Given the description of an element on the screen output the (x, y) to click on. 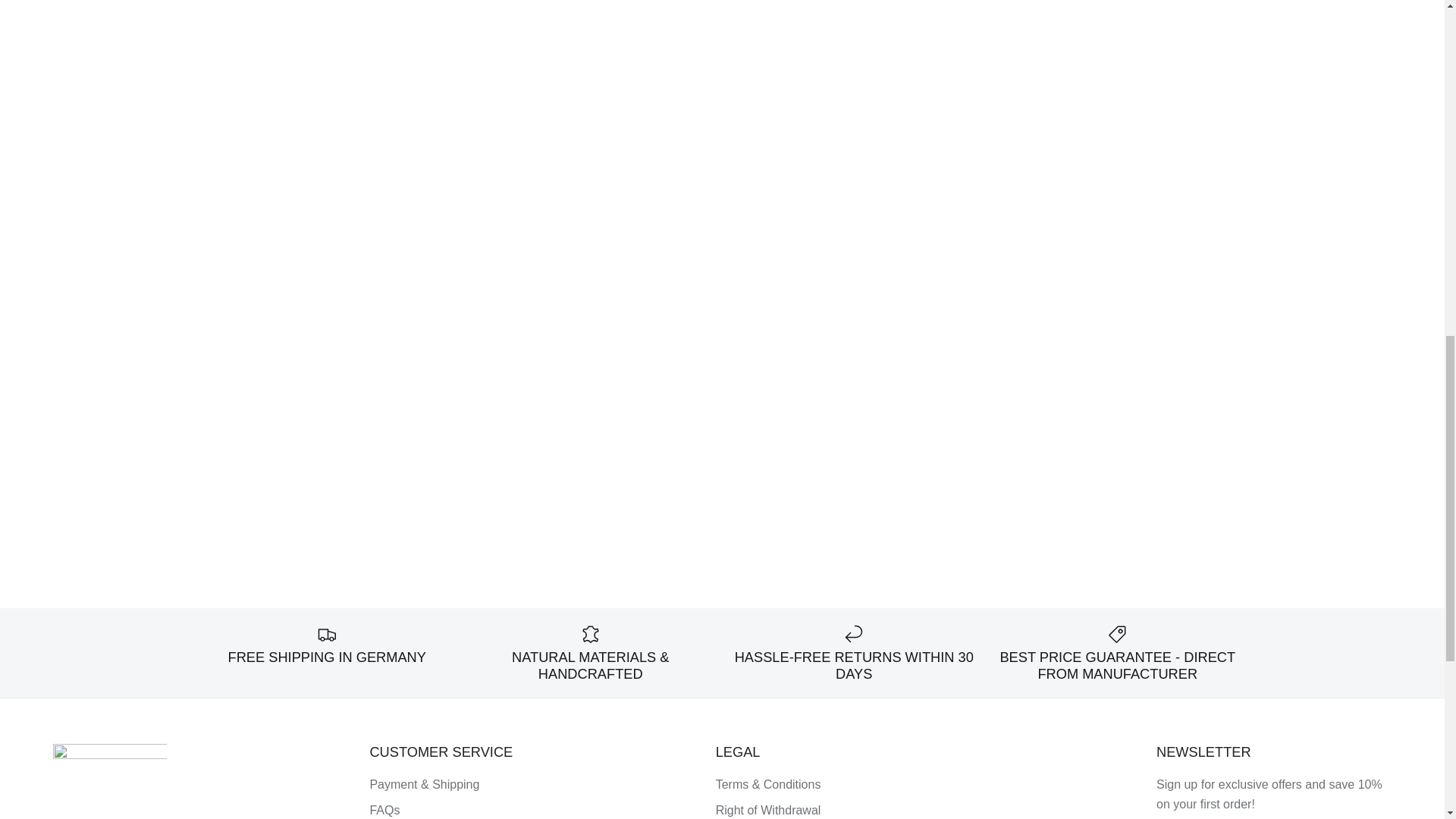
greenwood data protection (1257, 818)
